Given the description of an element on the screen output the (x, y) to click on. 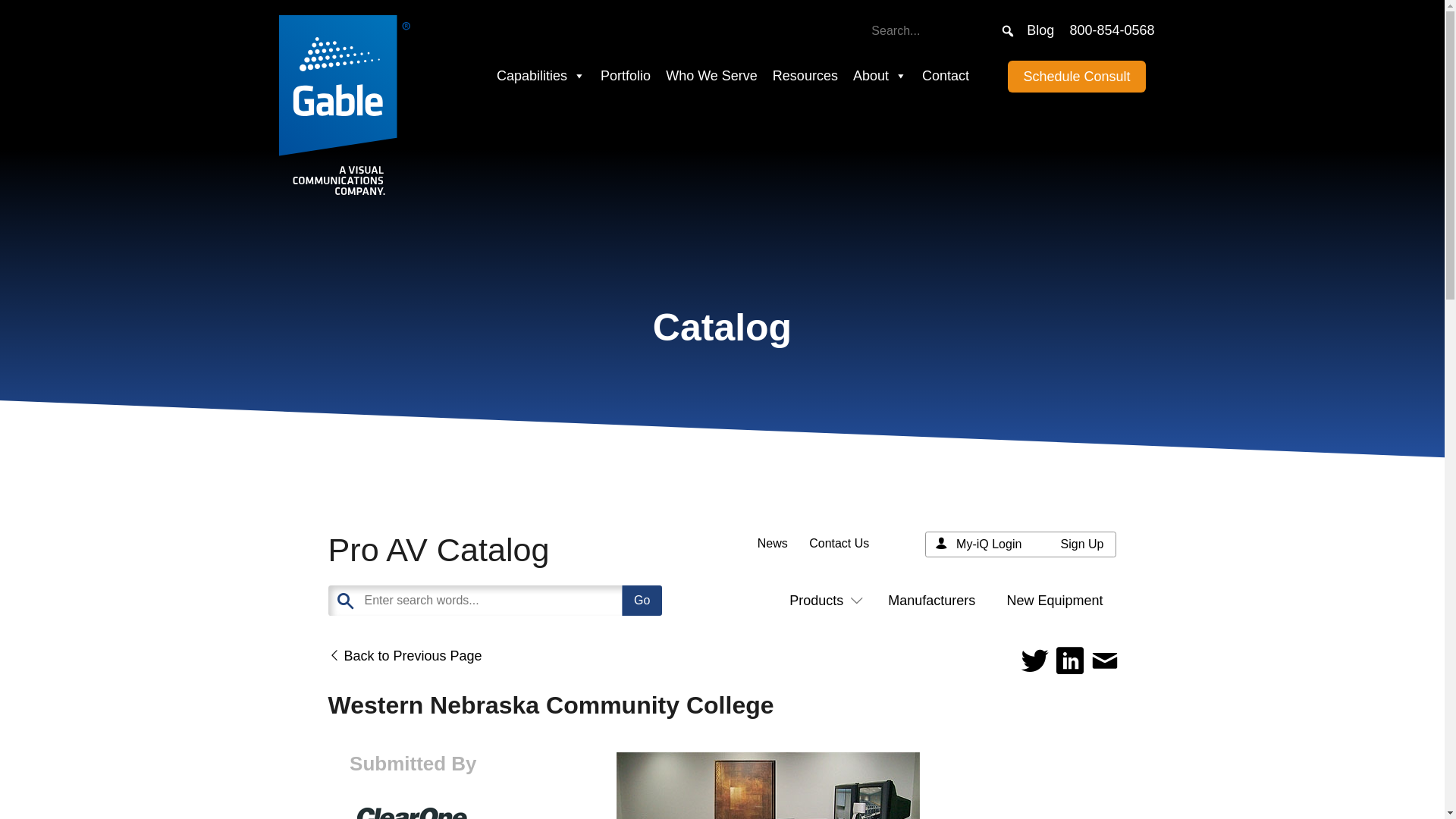
Go (641, 600)
Go (641, 600)
Enter search words... (531, 600)
